Given the description of an element on the screen output the (x, y) to click on. 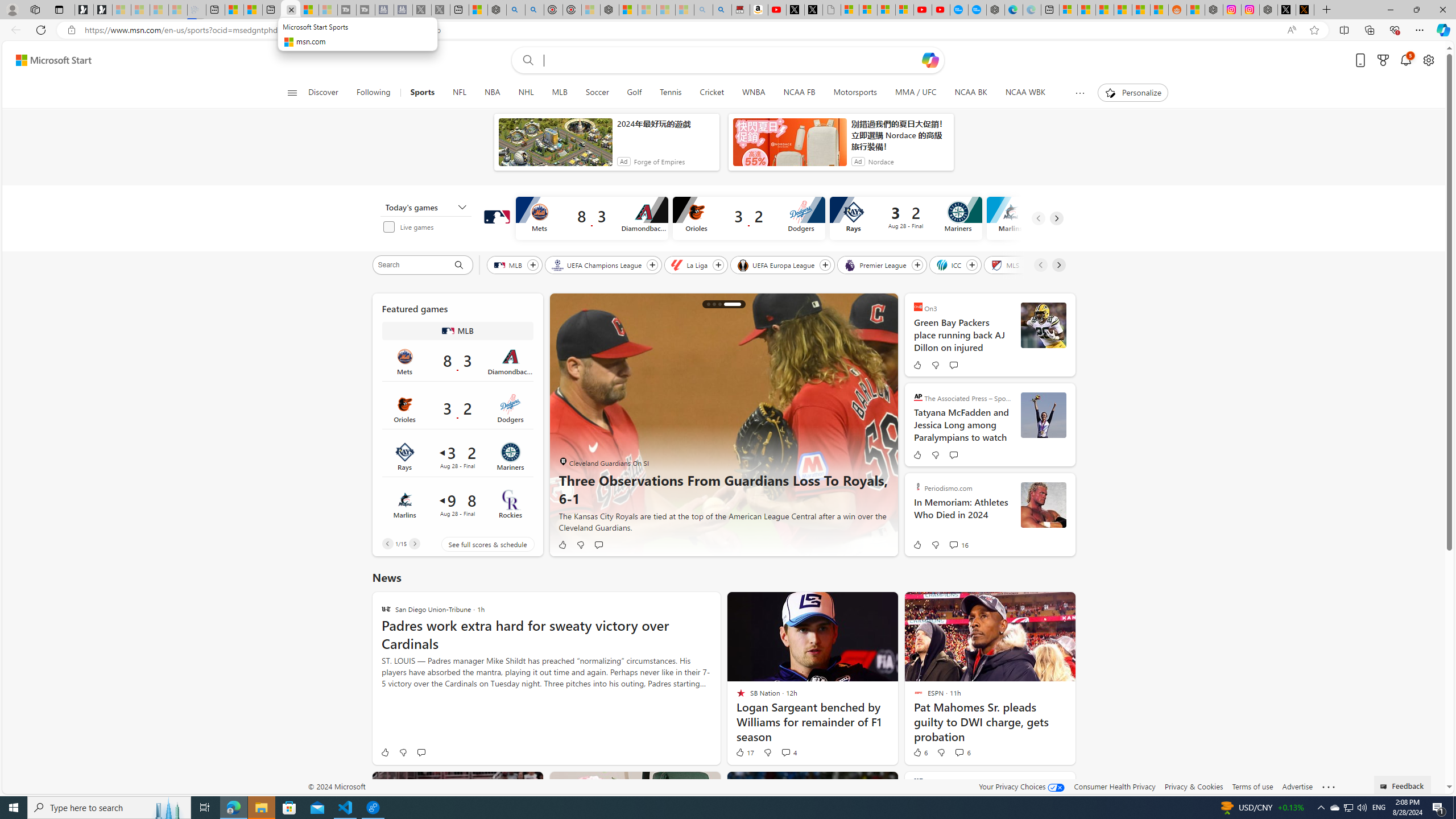
NBA (492, 92)
UEFA Champions League (597, 264)
Class: around-the-league-card (456, 504)
6 Like (919, 752)
Untitled (831, 9)
Soccer (596, 92)
Terms of use (1252, 786)
Class: button-glyph (292, 92)
NCAA FB (799, 92)
